Given the description of an element on the screen output the (x, y) to click on. 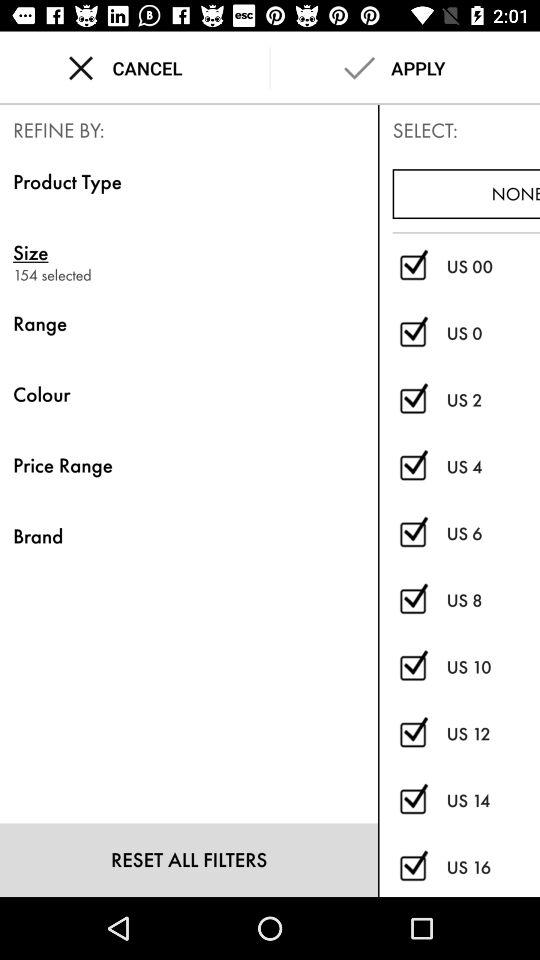
select the item below us 2 (493, 466)
